Given the description of an element on the screen output the (x, y) to click on. 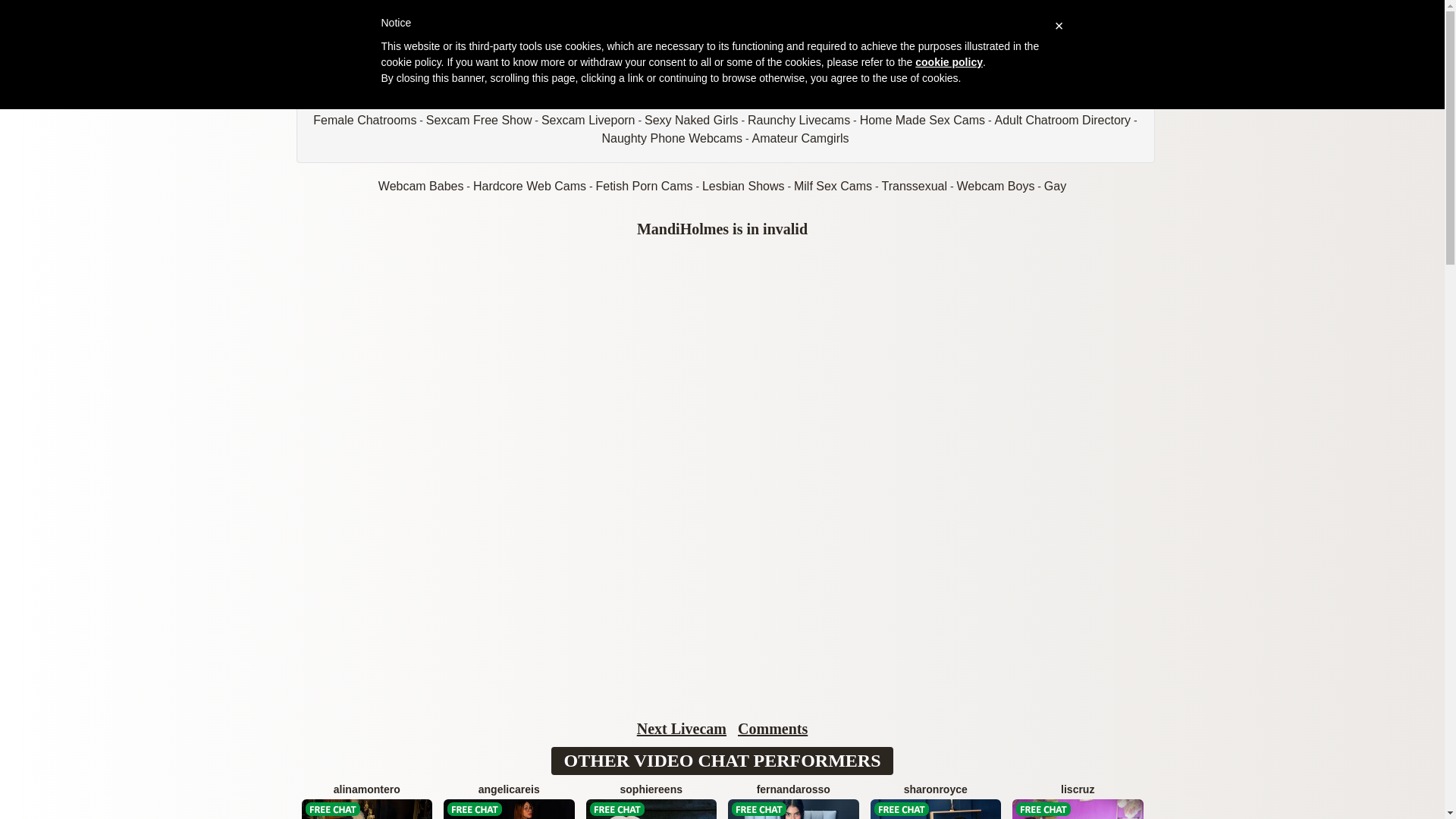
Home Made Sex Cams (922, 119)
Lesbian Shows (742, 185)
Extreme Sex Cams (577, 101)
Female Chatrooms (364, 119)
FernandaRosso (793, 800)
SophieReens (650, 800)
Sexcam Liveporn (587, 119)
Horny Sluts Chatrooms (988, 101)
Fetish Porn Cams (644, 185)
First Time Amateur Webcams (719, 101)
Amateur Camgirls (800, 137)
Webcam Babes (421, 185)
LisCruz (1078, 800)
Webcam Forum (366, 101)
Milf Sex Cams (832, 185)
